Given the description of an element on the screen output the (x, y) to click on. 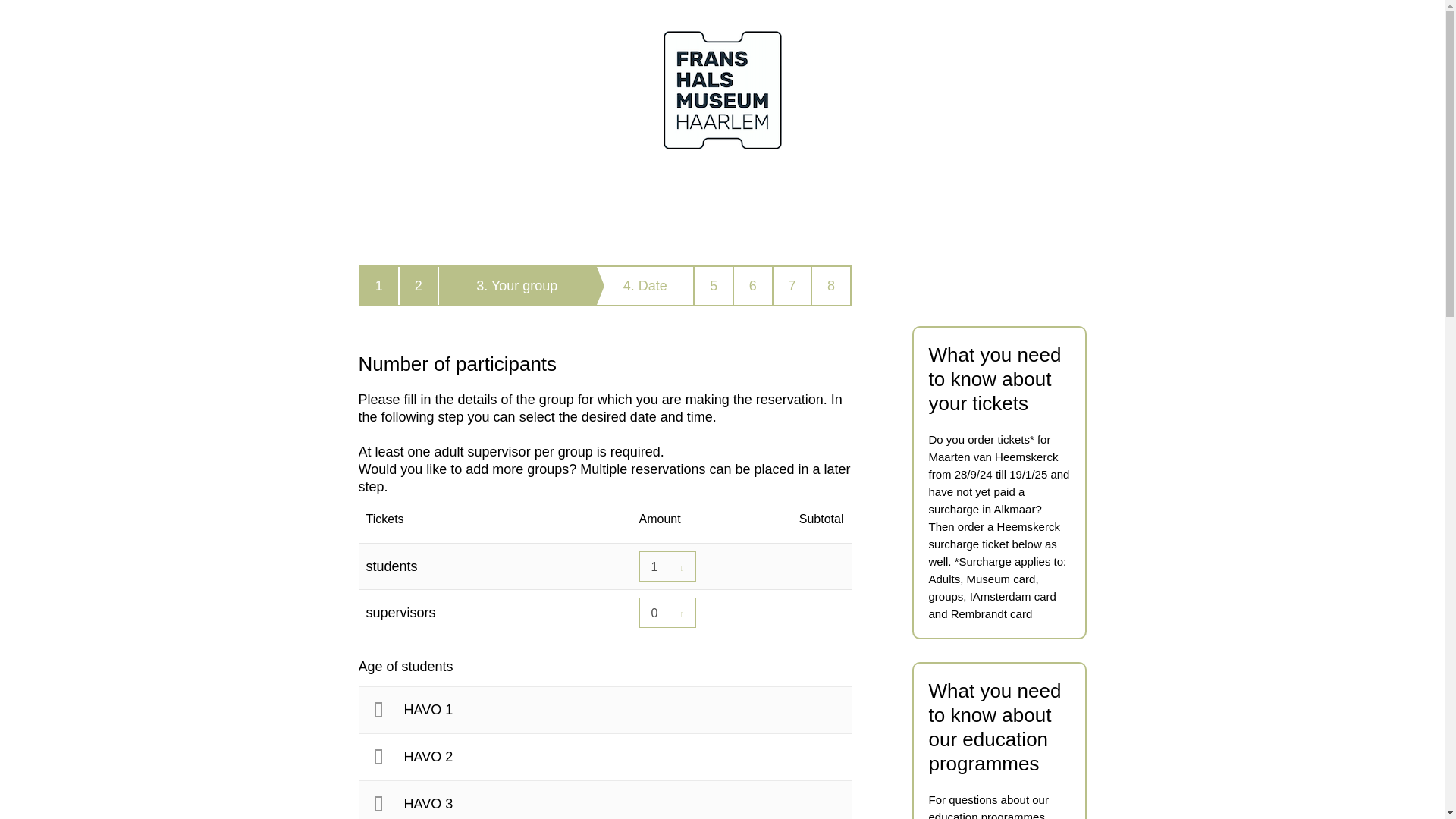
8 (830, 285)
5 (713, 285)
7 (792, 285)
1 (378, 285)
6 (753, 285)
4. Date (645, 285)
